Given the description of an element on the screen output the (x, y) to click on. 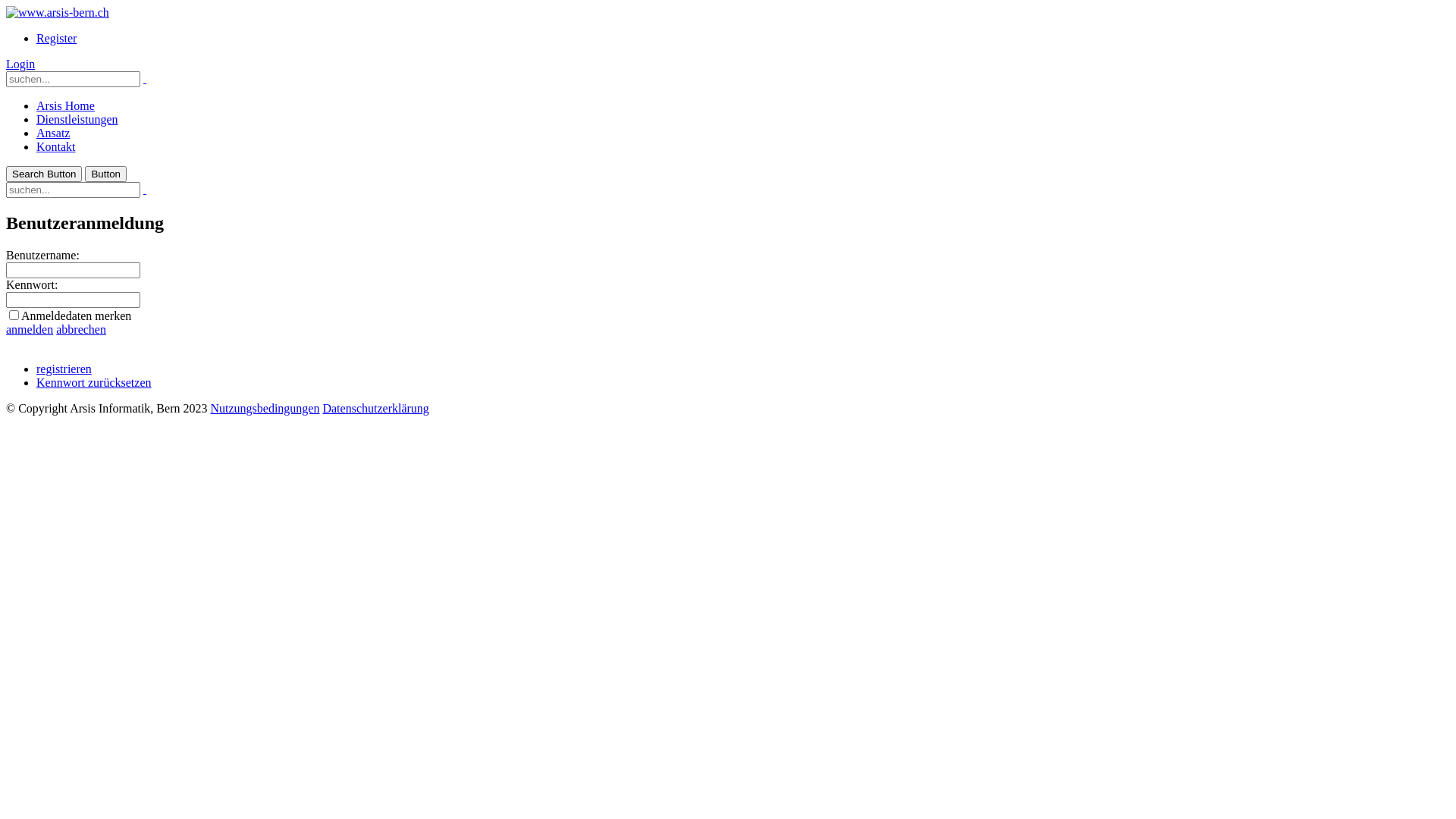
abbrechen Element type: text (81, 329)
  Element type: text (144, 188)
Login Element type: text (20, 63)
Kontakt Element type: text (55, 146)
www.arsis-bern.ch Element type: hover (57, 12)
registrieren Element type: text (63, 368)
Search Button Element type: text (43, 174)
Arsis Home Element type: text (65, 105)
anmelden Element type: text (29, 329)
Button Element type: text (105, 174)
  Element type: text (144, 78)
Ansatz Element type: text (52, 132)
Register Element type: text (56, 37)
Dienstleistungen Element type: text (77, 118)
Nutzungsbedingungen Element type: text (264, 407)
